Given the description of an element on the screen output the (x, y) to click on. 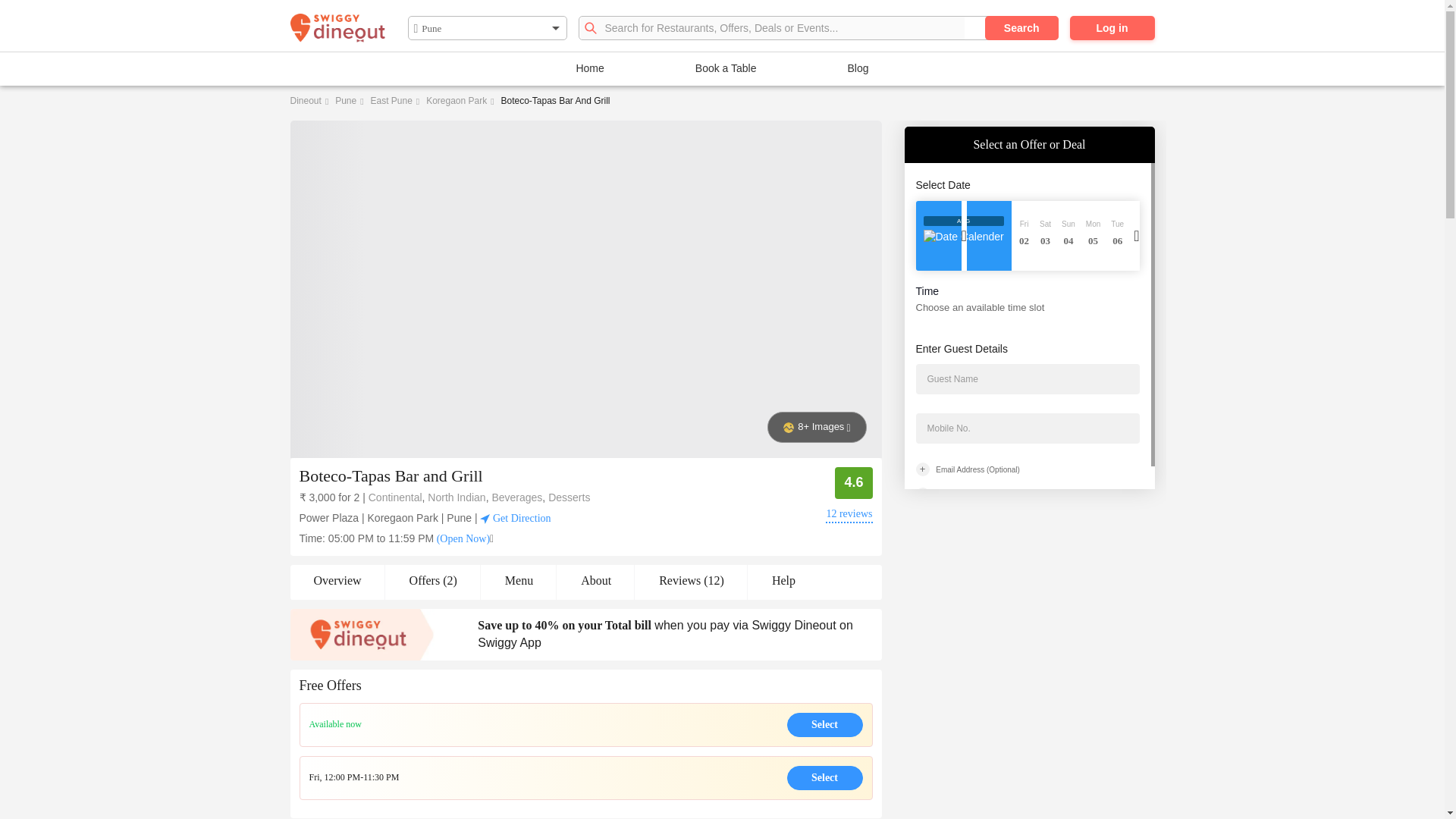
Log in (1111, 27)
North Indian (456, 497)
Blog (858, 68)
Desserts (568, 497)
Book a Table (726, 68)
East Pune (390, 100)
Swiggy Dineout (336, 28)
About (595, 582)
Dineout (304, 100)
Home (589, 68)
Koregaon Park (456, 100)
Select (825, 724)
Pune (345, 100)
Fri, 12:00 PM-11:30 PM (353, 777)
Select (825, 777)
